Given the description of an element on the screen output the (x, y) to click on. 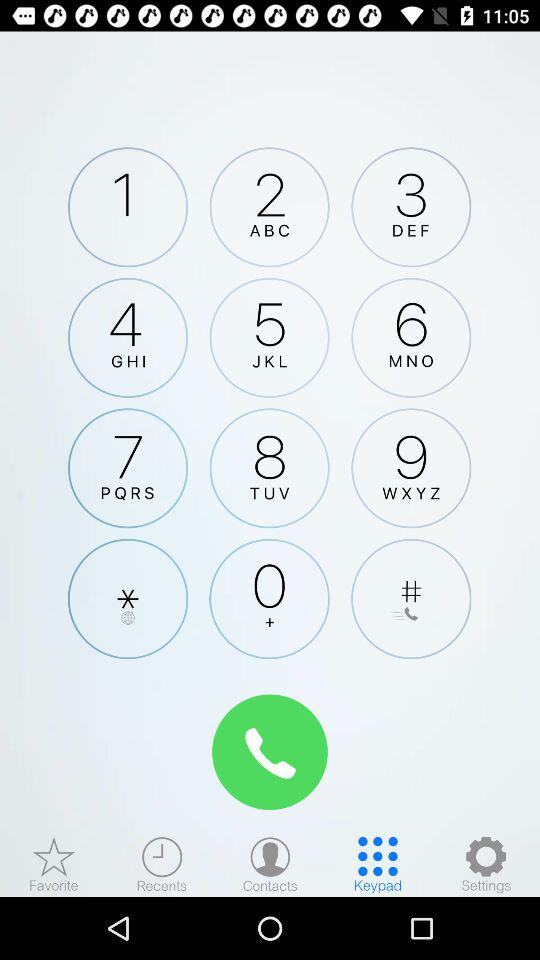
enter number 6 (411, 337)
